Given the description of an element on the screen output the (x, y) to click on. 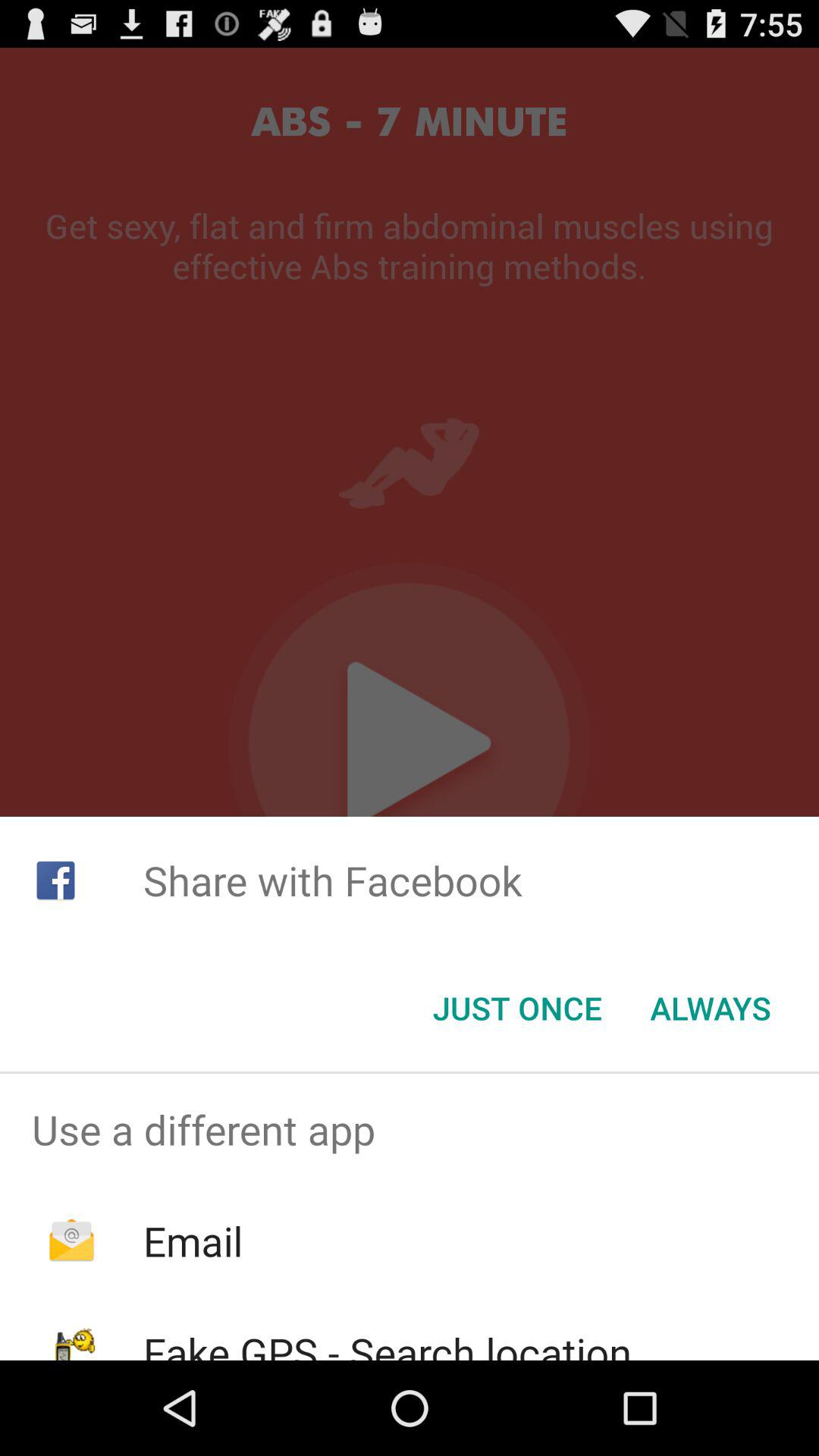
turn off always at the bottom right corner (710, 1007)
